Given the description of an element on the screen output the (x, y) to click on. 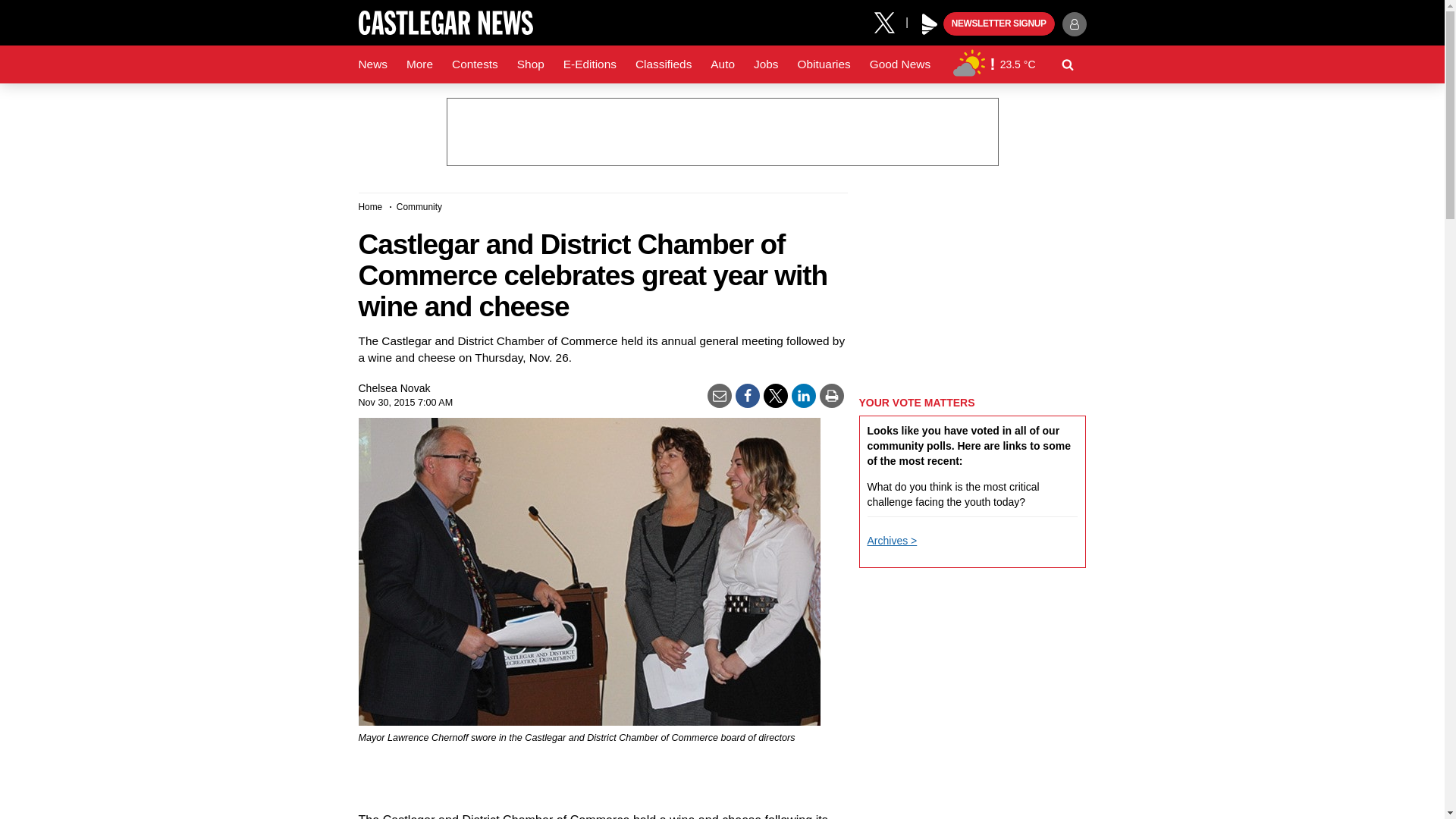
News (372, 64)
X (889, 21)
NEWSLETTER SIGNUP (998, 24)
Play (929, 24)
Black Press Media (929, 24)
3rd party ad content (721, 131)
